Given the description of an element on the screen output the (x, y) to click on. 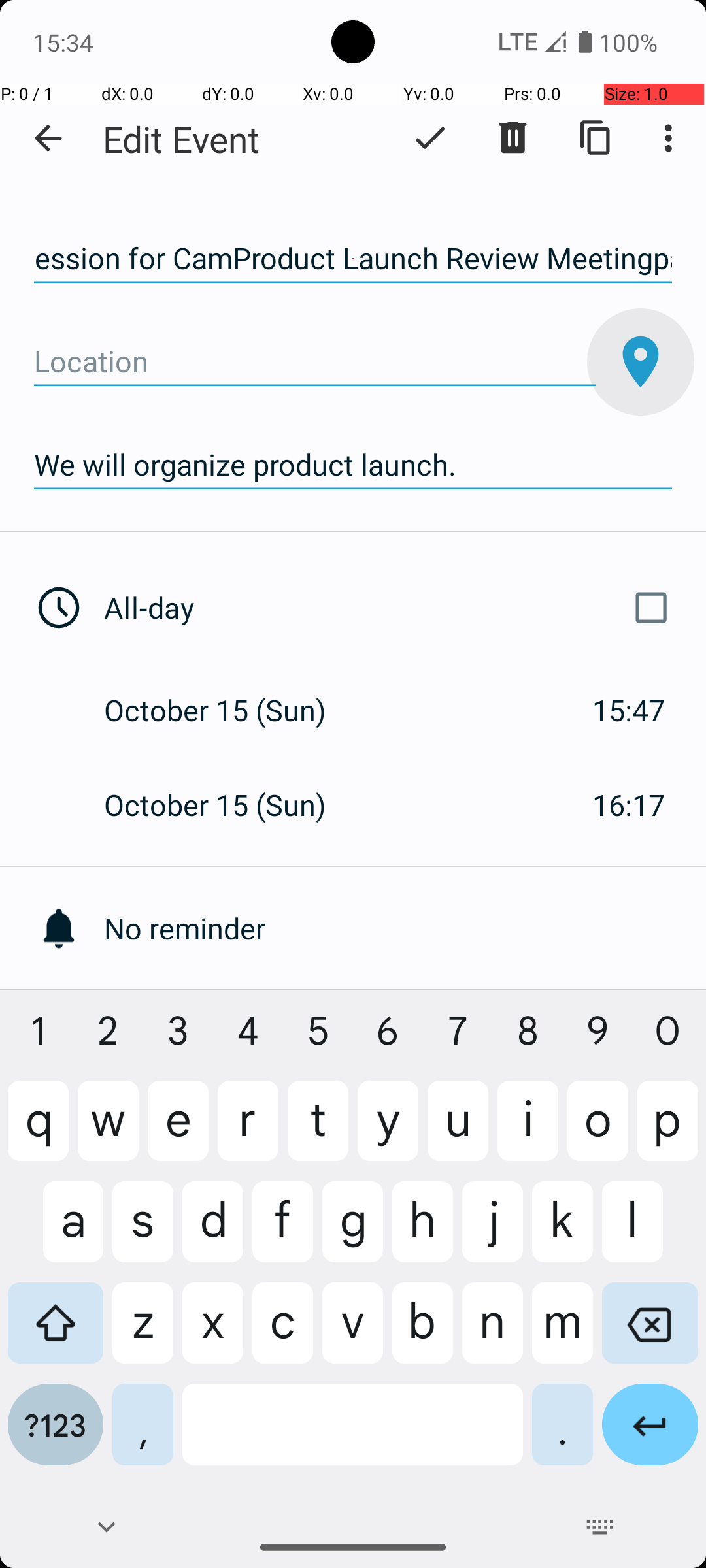
Review session for CamProduct Launch Review Meetingpaign Element type: android.widget.EditText (352, 258)
We will organize product launch. Element type: android.widget.EditText (352, 465)
15:47 Element type: android.widget.TextView (628, 709)
16:17 Element type: android.widget.TextView (628, 804)
